Given the description of an element on the screen output the (x, y) to click on. 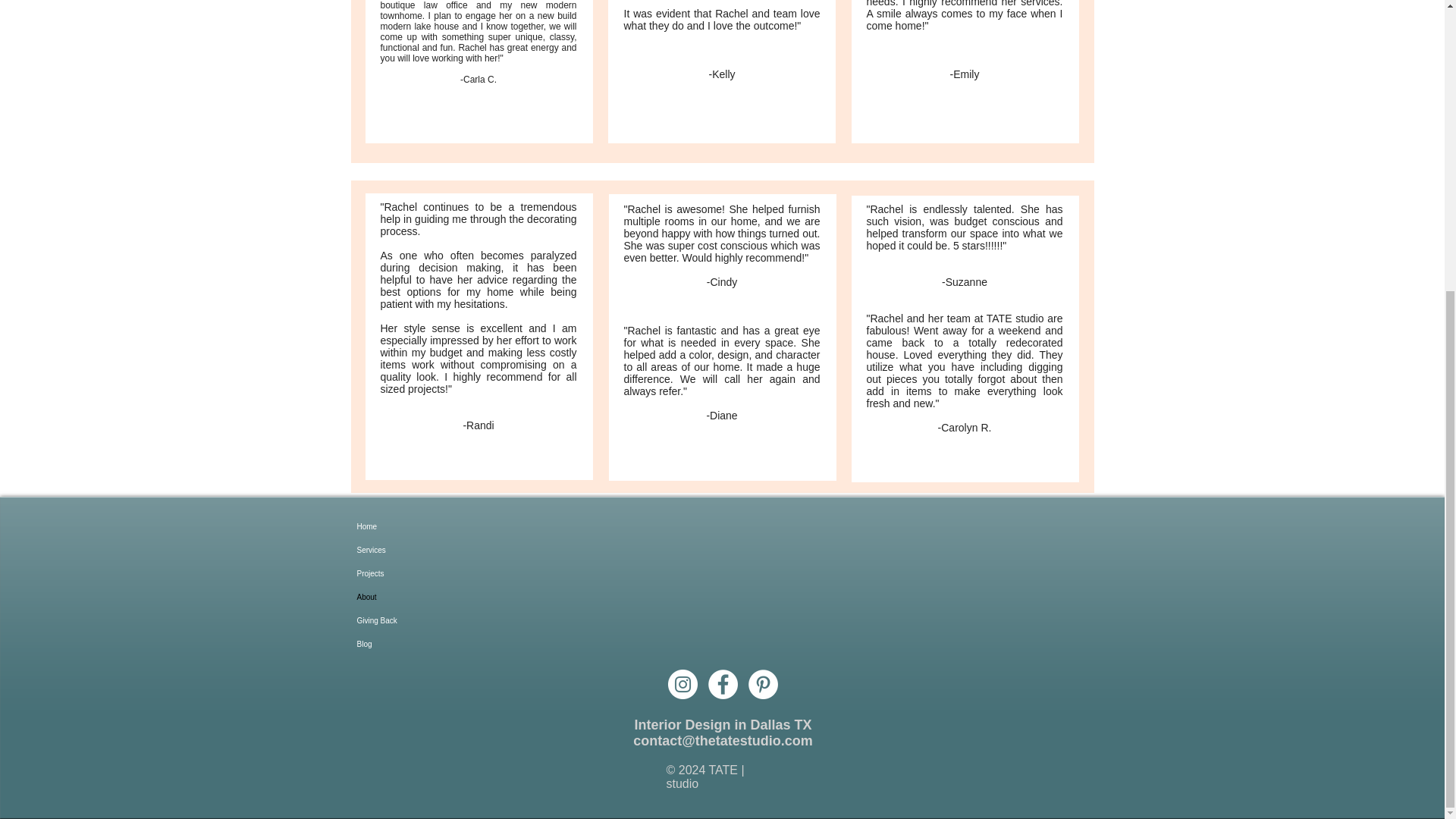
Home (419, 526)
Blog (419, 644)
Giving Back (419, 620)
About (419, 597)
Projects (419, 573)
